Given the description of an element on the screen output the (x, y) to click on. 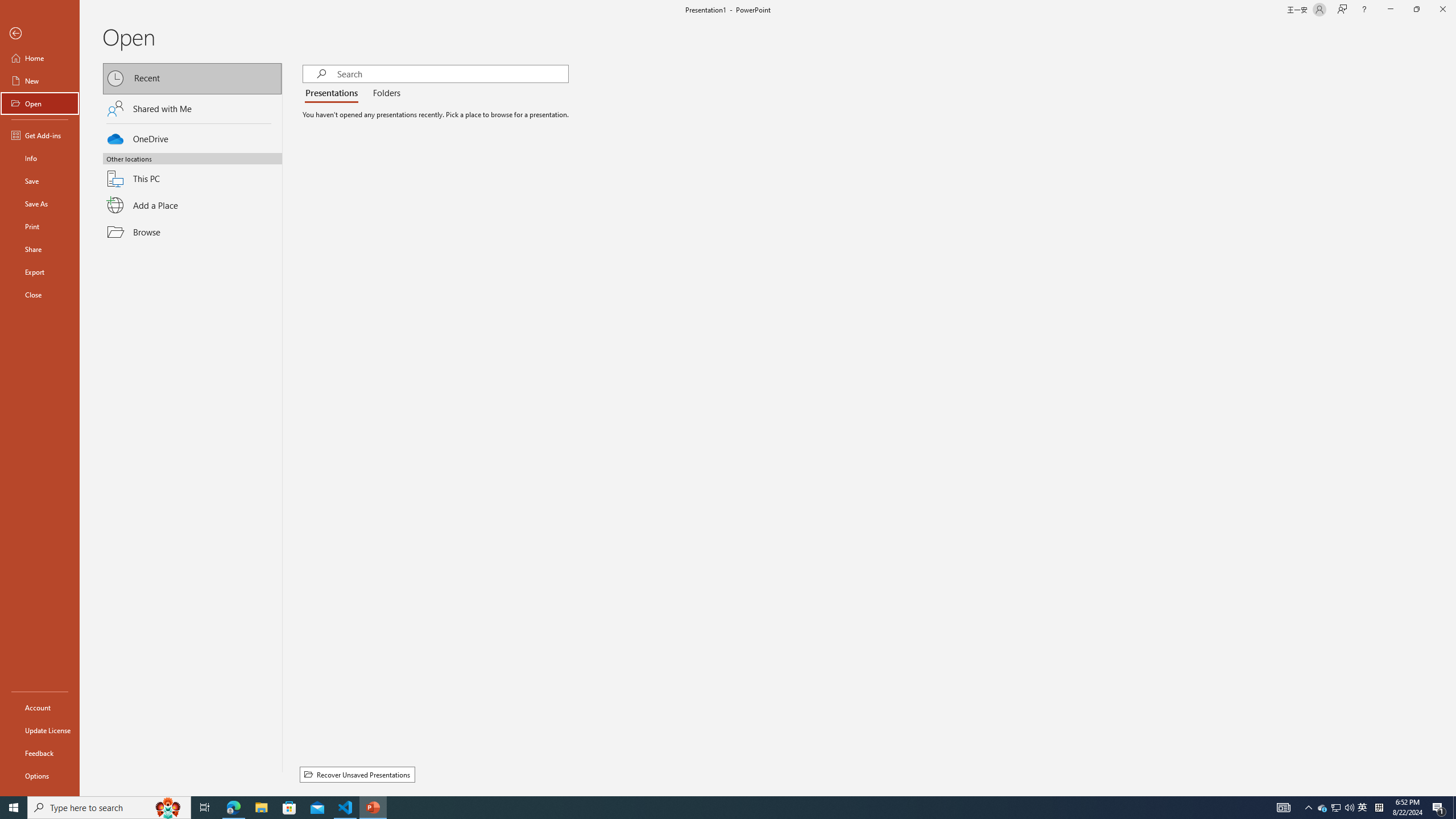
Recover Unsaved Presentations (356, 774)
This PC (192, 171)
New (40, 80)
Browse (192, 231)
Shared with Me (192, 108)
Account (40, 707)
Save As (40, 203)
Presentations (333, 93)
